Given the description of an element on the screen output the (x, y) to click on. 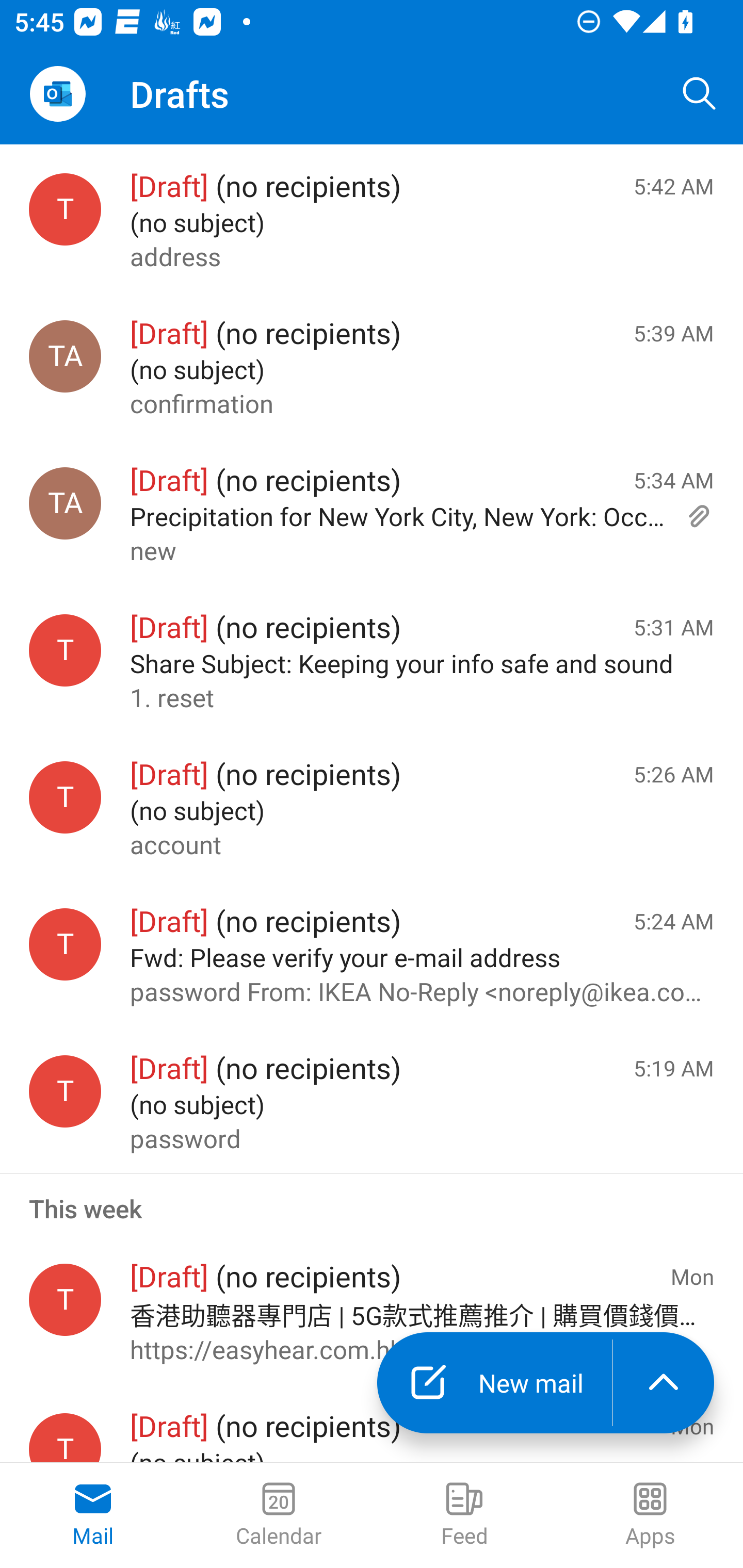
Search, ,  (699, 93)
Close Navigation Drawer (57, 94)
testappium002@outlook.com (64, 210)
Test Appium, testappium002@outlook.com (64, 355)
Test Appium, testappium002@outlook.com (64, 503)
testappium002@outlook.com (64, 650)
testappium002@outlook.com (64, 798)
testappium002@outlook.com (64, 943)
testappium002@outlook.com (64, 1091)
testappium002@outlook.com (64, 1299)
New mail (494, 1382)
launch the extended action menu (663, 1382)
testappium002@outlook.com (64, 1437)
Calendar (278, 1515)
Feed (464, 1515)
Apps (650, 1515)
